Given the description of an element on the screen output the (x, y) to click on. 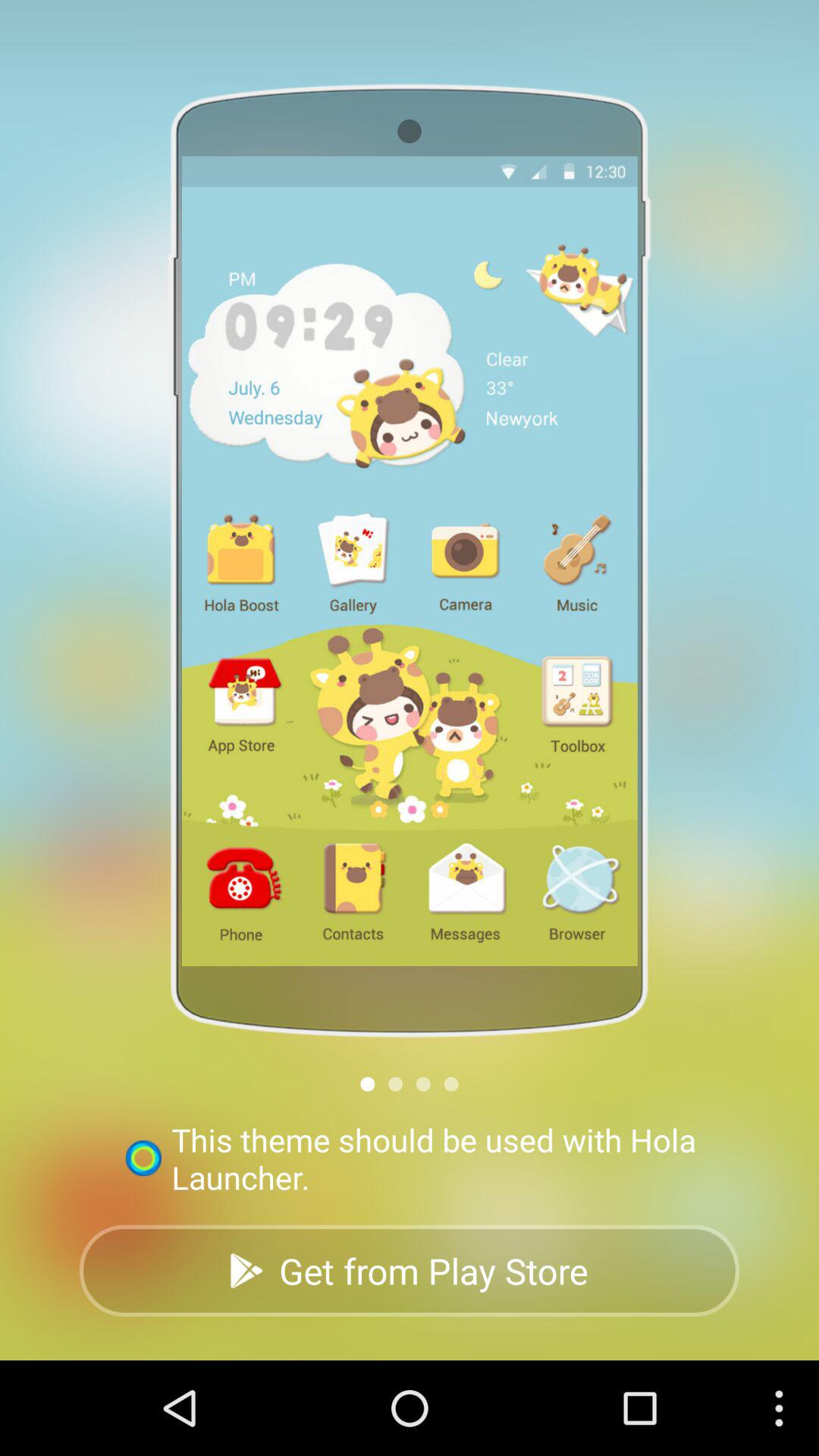
go to next (423, 1084)
